Given the description of an element on the screen output the (x, y) to click on. 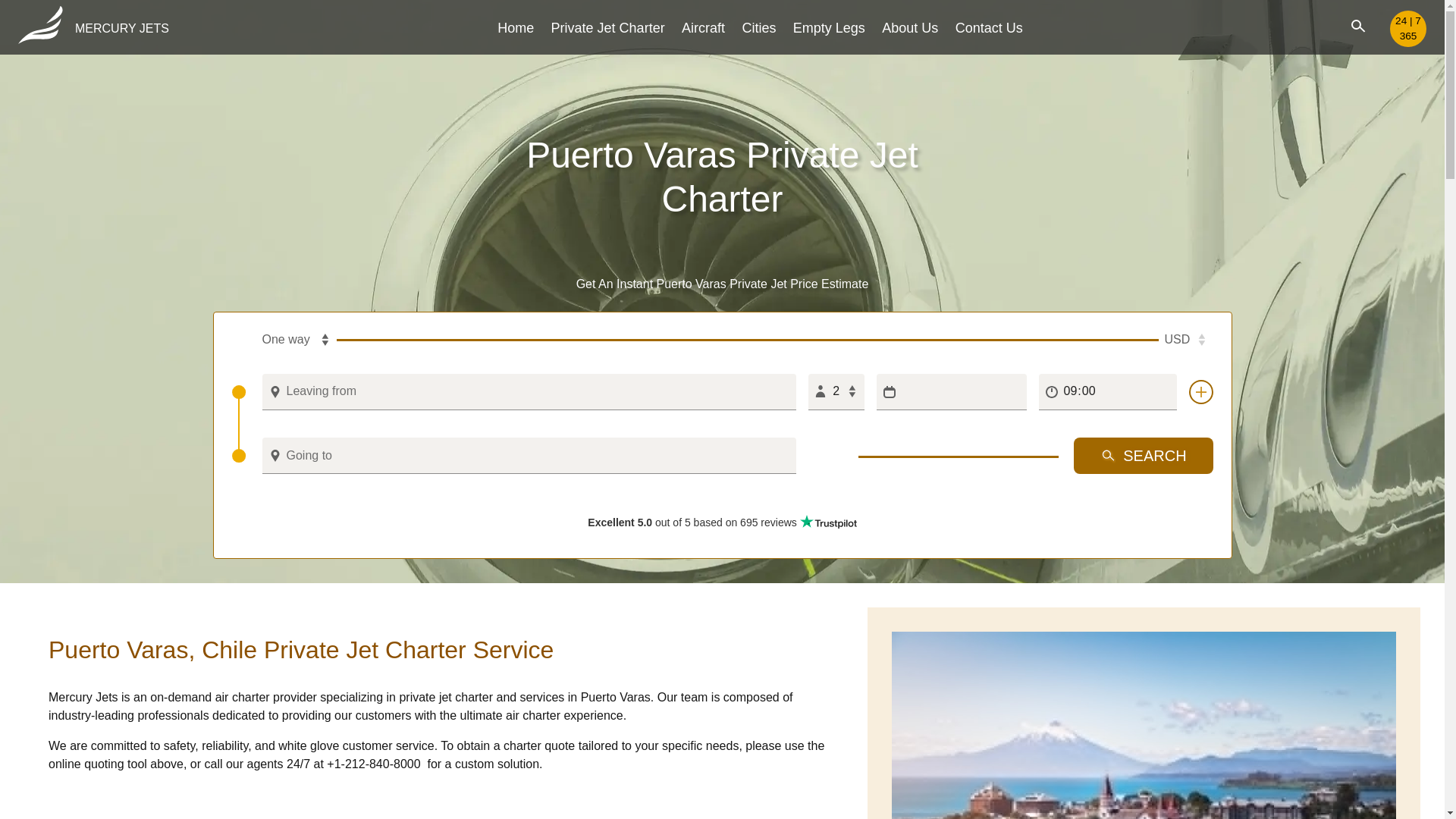
09:00 (1107, 391)
Cities (758, 27)
SEARCH (1143, 455)
Home (515, 27)
MERCURY JETS (92, 28)
About Us (909, 27)
Aircraft (703, 27)
Empty Legs (828, 27)
Private Jet Charter (608, 27)
Excellent 5.0 out of 5 based on 695 reviews (722, 522)
